Given the description of an element on the screen output the (x, y) to click on. 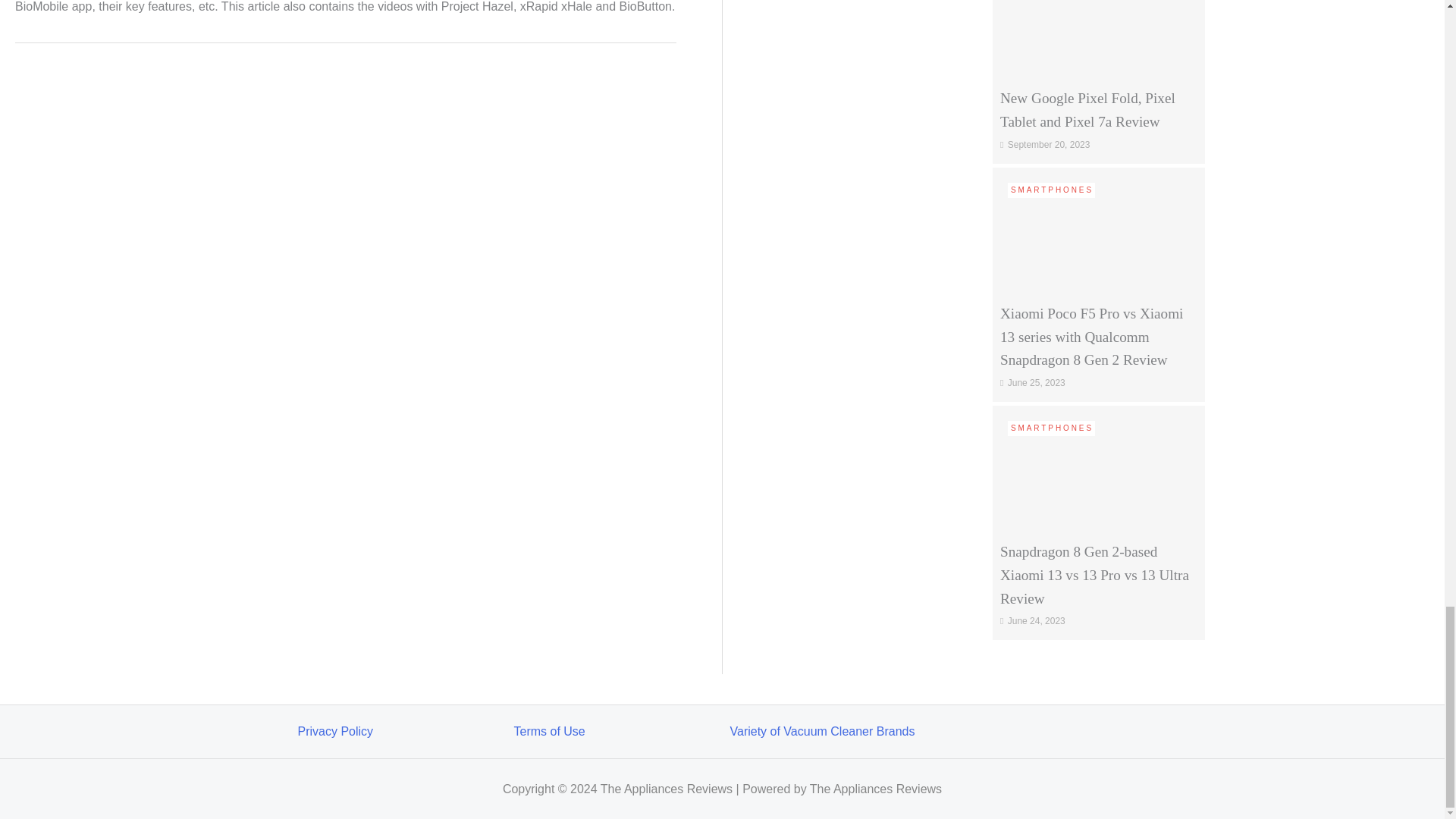
New Google Pixel Fold, Pixel Tablet and Pixel 7a Review (1098, 14)
